Given the description of an element on the screen output the (x, y) to click on. 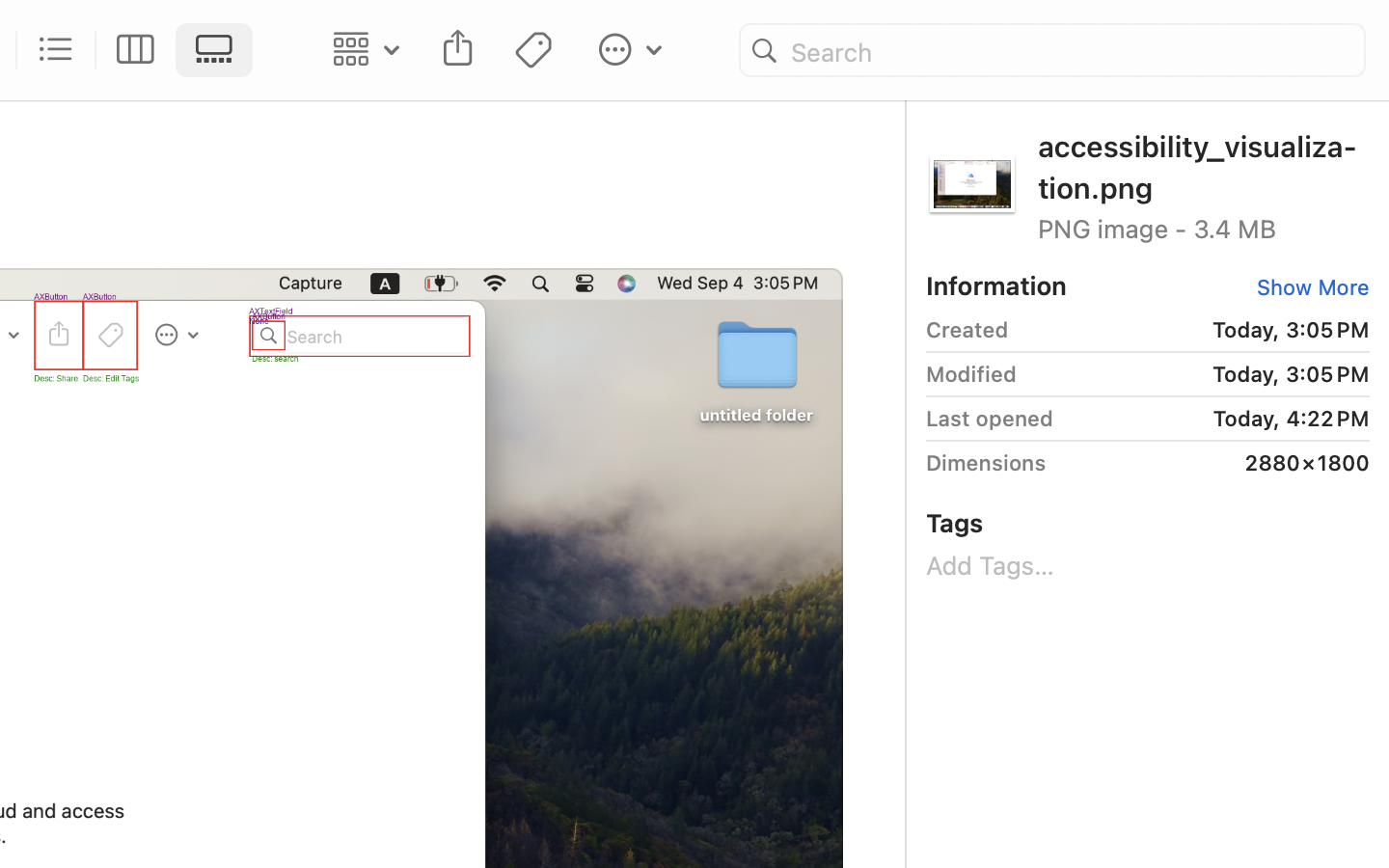
Today, 3:05 PM Element type: AXStaticText (1196, 329)
Information Element type: AXStaticText (996, 285)
Tags Element type: AXStaticText (954, 522)
0 Element type: AXCheckBox (1308, 286)
PNG image - 3.4 MB Element type: AXStaticText (1203, 227)
